Given the description of an element on the screen output the (x, y) to click on. 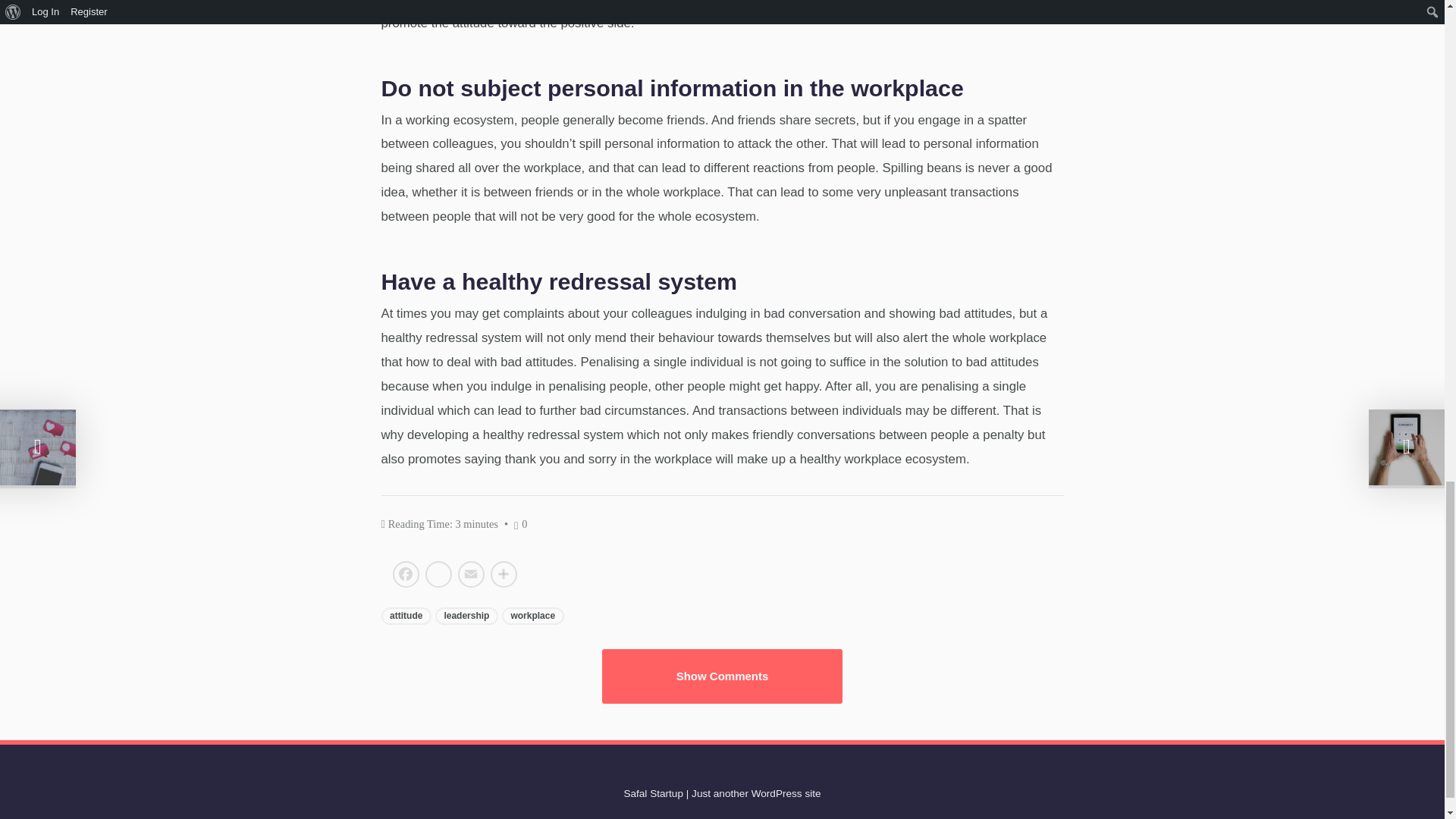
Twitter (438, 576)
Twitter (438, 576)
Show Comments (722, 676)
Email (470, 576)
workplace (533, 616)
Email (470, 576)
attitude (405, 616)
Share (502, 576)
Facebook (407, 576)
Facebook (407, 576)
leadership (466, 616)
